Given the description of an element on the screen output the (x, y) to click on. 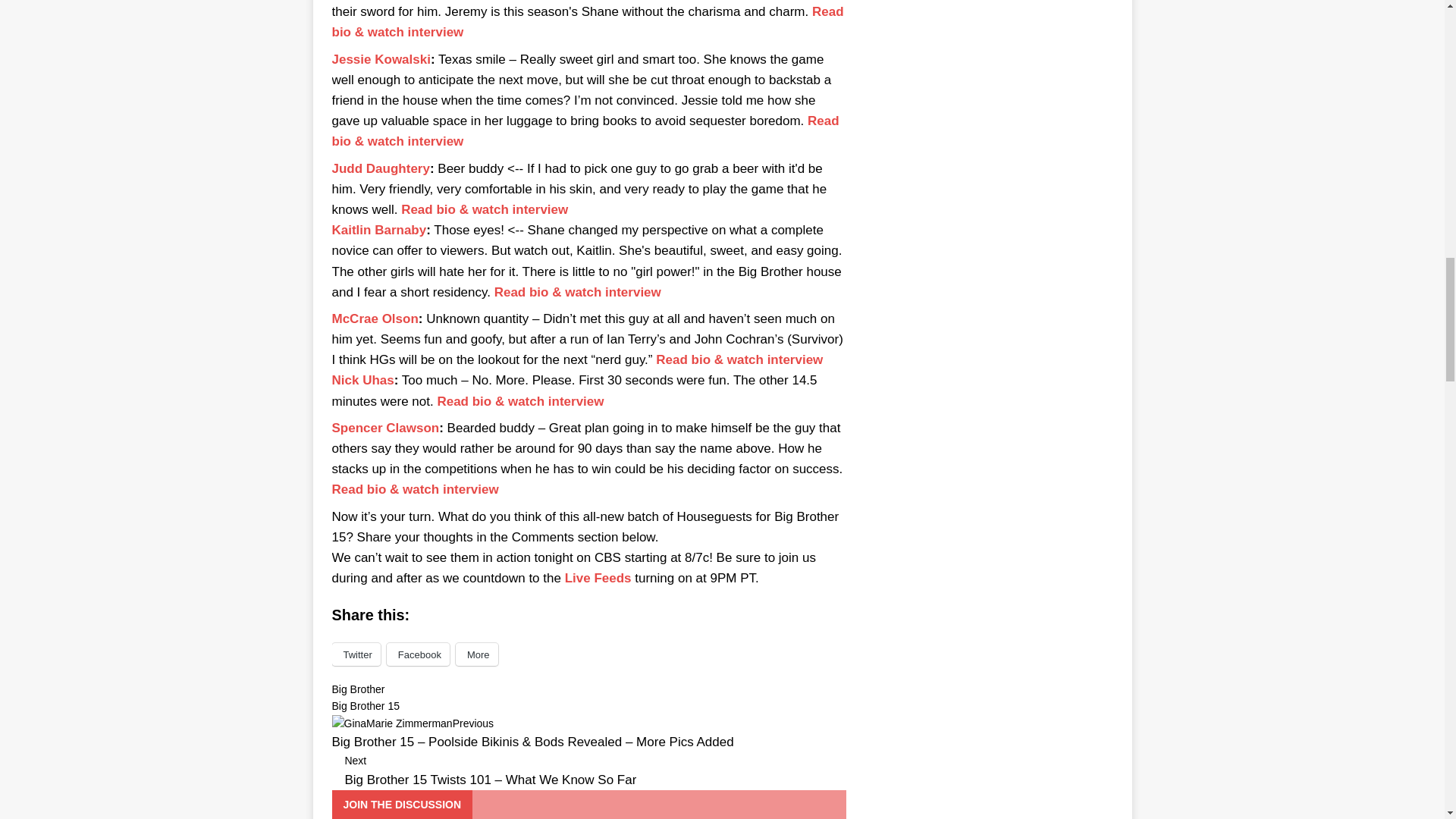
Click to share on Twitter (355, 653)
Click to share on Facebook (418, 653)
